Given the description of an element on the screen output the (x, y) to click on. 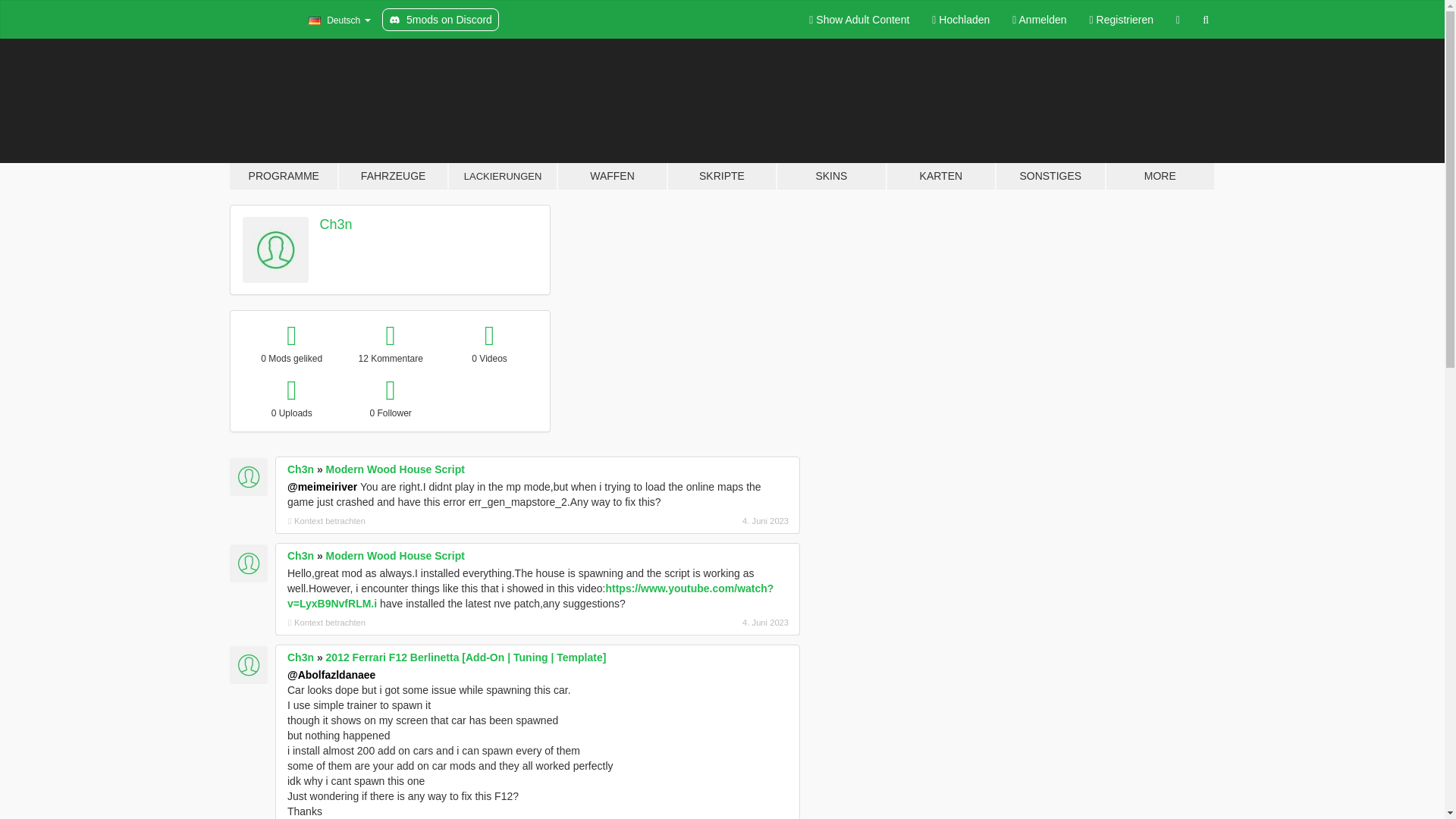
5mods on Discord (440, 19)
Light mode (858, 19)
Registrieren (1122, 19)
Show Adult Content (858, 19)
Sonntag, 04. Juni 2023, 17:42 Uhr (708, 520)
Hochladen (960, 19)
Anmelden (1039, 19)
  Deutsch (338, 19)
Sonntag, 04. Juni 2023, 17:12 Uhr (708, 622)
